Given the description of an element on the screen output the (x, y) to click on. 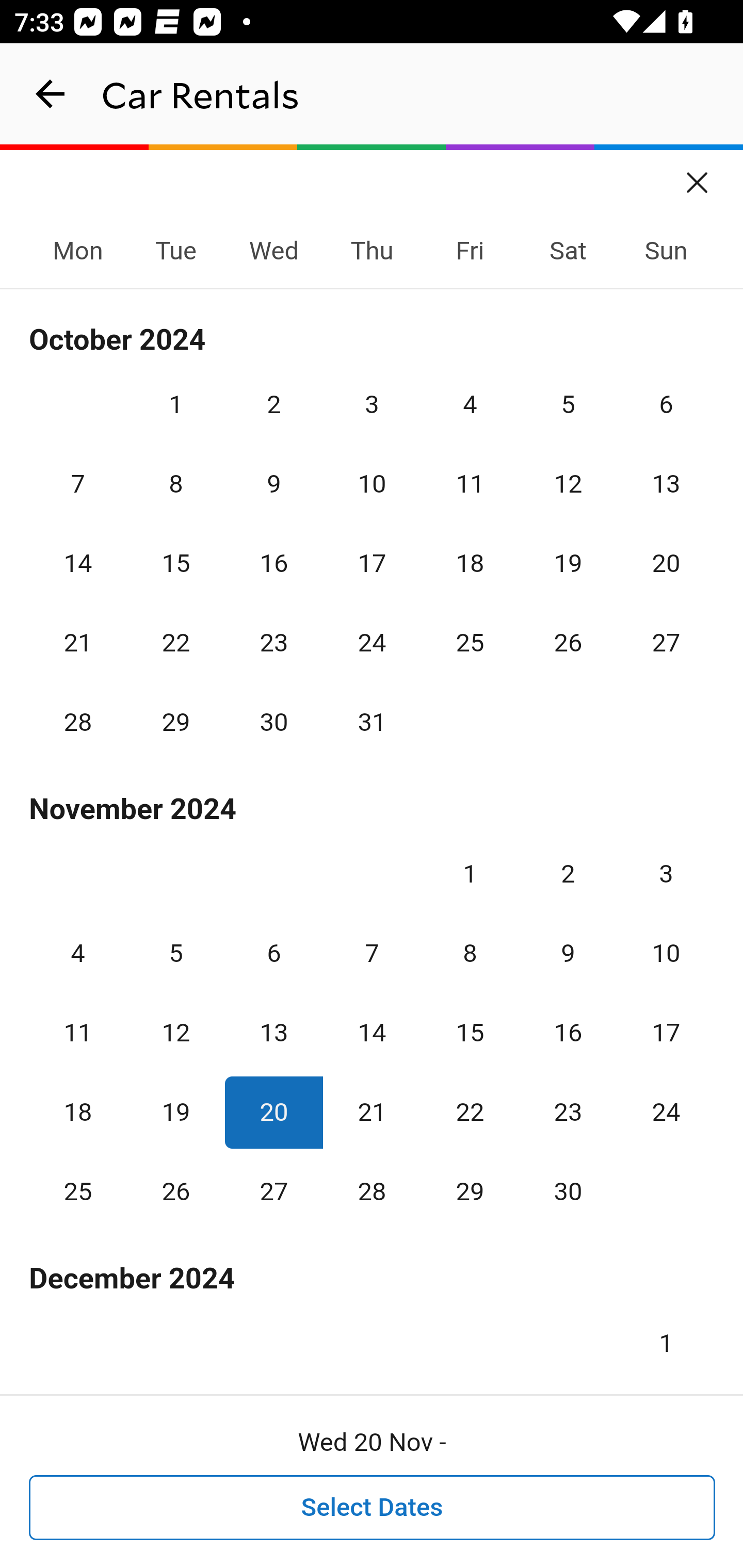
navigation_button (50, 93)
Close (697, 176)
1 October 2024 (175, 404)
2 October 2024 (273, 404)
3 October 2024 (371, 404)
4 October 2024 (470, 404)
5 October 2024 (567, 404)
6 October 2024 (665, 404)
7 October 2024 (77, 484)
8 October 2024 (175, 484)
9 October 2024 (273, 484)
10 October 2024 (371, 484)
11 October 2024 (470, 484)
12 October 2024 (567, 484)
13 October 2024 (665, 484)
14 October 2024 (77, 563)
15 October 2024 (175, 563)
16 October 2024 (273, 563)
17 October 2024 (371, 563)
18 October 2024 (470, 563)
19 October 2024 (567, 563)
20 October 2024 (665, 563)
21 October 2024 (77, 642)
22 October 2024 (175, 642)
23 October 2024 (273, 642)
24 October 2024 (371, 642)
25 October 2024 (470, 642)
26 October 2024 (567, 642)
27 October 2024 (665, 642)
28 October 2024 (77, 722)
29 October 2024 (175, 722)
30 October 2024 (273, 722)
31 October 2024 (371, 722)
1 November 2024 (470, 873)
2 November 2024 (567, 873)
3 November 2024 (665, 873)
4 November 2024 (77, 952)
5 November 2024 (175, 952)
6 November 2024 (273, 952)
7 November 2024 (371, 952)
8 November 2024 (470, 952)
9 November 2024 (567, 952)
10 November 2024 (665, 952)
11 November 2024 (77, 1032)
12 November 2024 (175, 1032)
13 November 2024 (273, 1032)
14 November 2024 (371, 1032)
15 November 2024 (470, 1032)
16 November 2024 (567, 1032)
17 November 2024 (665, 1032)
